Given the description of an element on the screen output the (x, y) to click on. 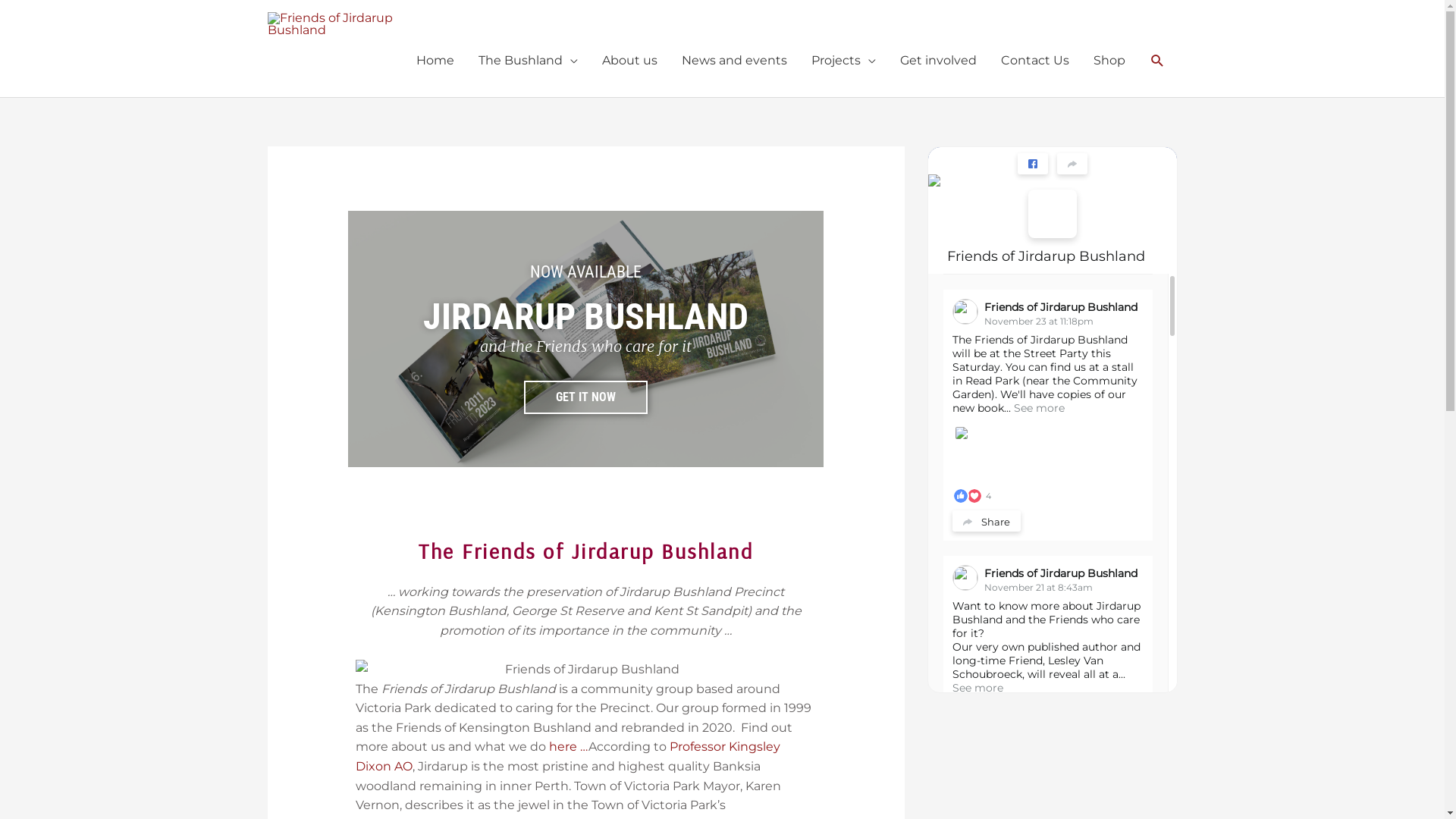
Contact Us Element type: text (1034, 60)
Professor Kingsley Dixon AO Element type: text (567, 756)
Search Element type: text (1157, 61)
About us Element type: text (629, 60)
Home Element type: text (434, 60)
Shop Element type: text (1109, 60)
Friends of Jirdarup Bushland Element type: text (1060, 573)
Get involved Element type: text (937, 60)
Friends of Jirdarup Bushland Element type: text (1060, 306)
News and events Element type: text (733, 60)
Projects Element type: text (843, 60)
Love: 1 Element type: hover (974, 495)
Like: 12 Element type: hover (960, 775)
Like: 3 Element type: hover (960, 495)
GET IT NOW Element type: text (585, 397)
The Bushland Element type: text (527, 60)
Friends of Jirdarup Bushland on Facebook Element type: hover (1052, 213)
Friends of Jirdarup Bushland Element type: text (1046, 255)
